Given the description of an element on the screen output the (x, y) to click on. 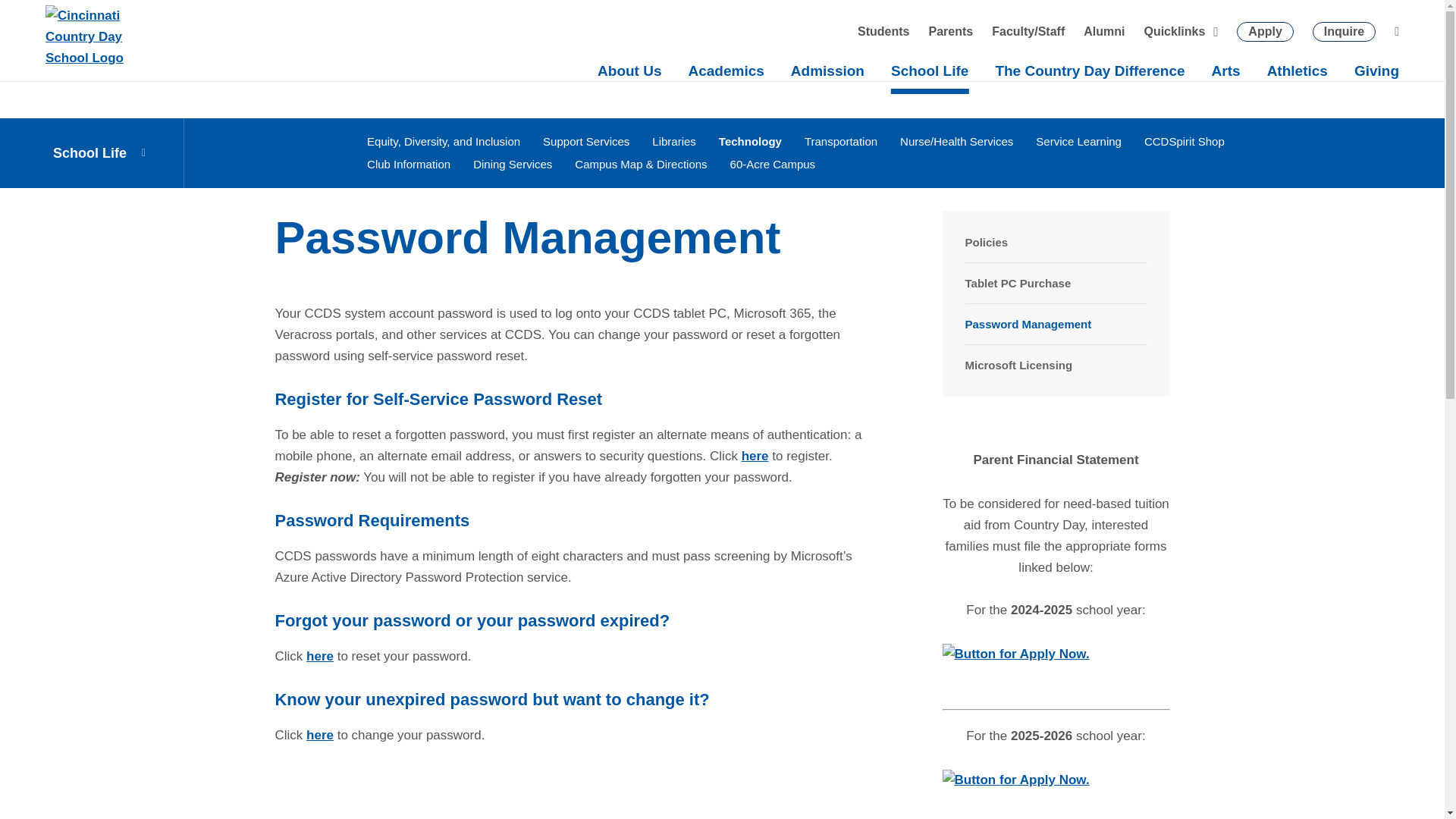
Register for Self-Service Password Reset (754, 455)
Change your password (319, 735)
Reset your password (319, 656)
